Given the description of an element on the screen output the (x, y) to click on. 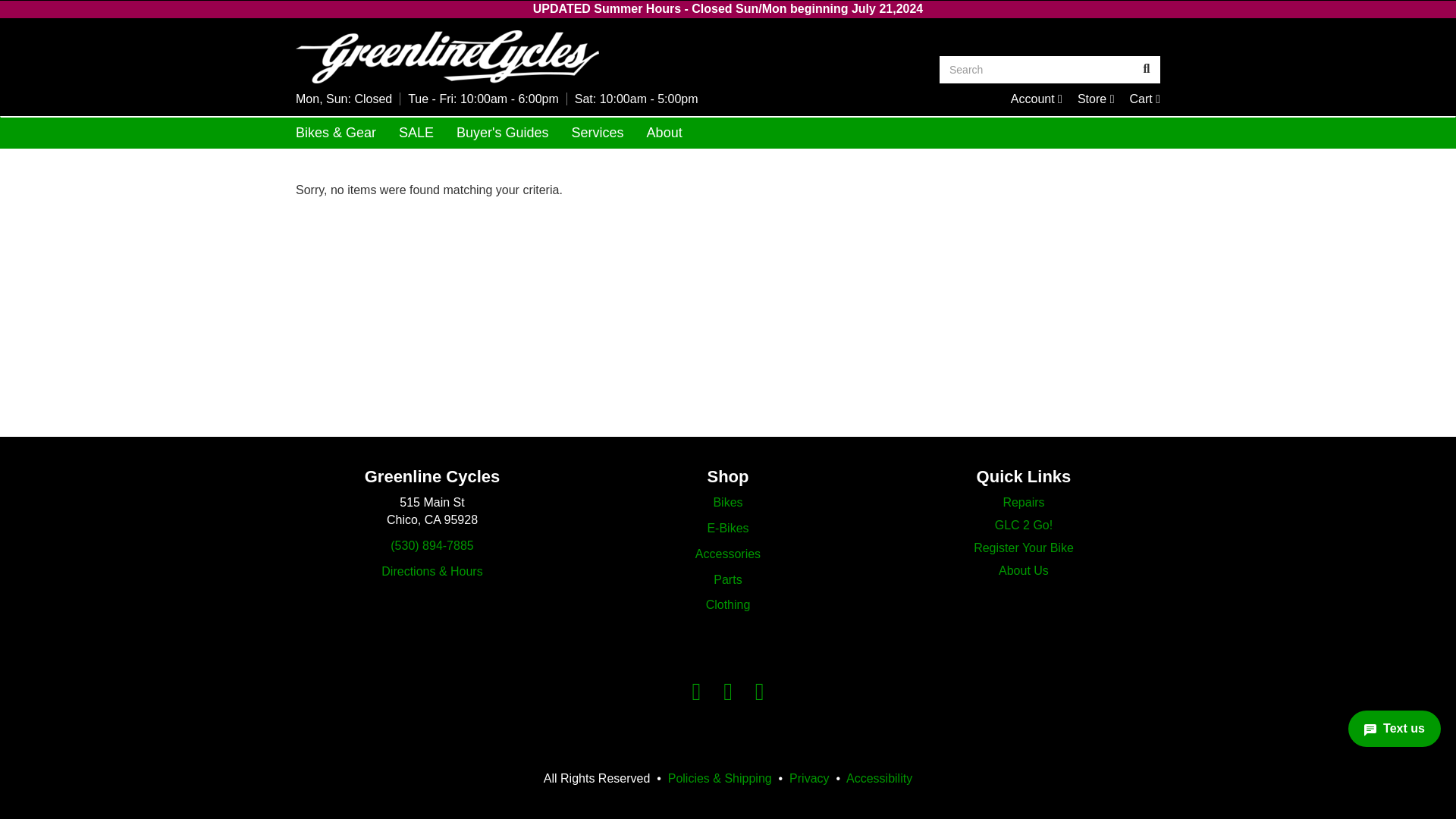
Search (1096, 98)
Greenline Cycles Home Page (1036, 98)
Search (1144, 98)
Cart (1146, 69)
Store (505, 56)
Account (1036, 69)
